Given the description of an element on the screen output the (x, y) to click on. 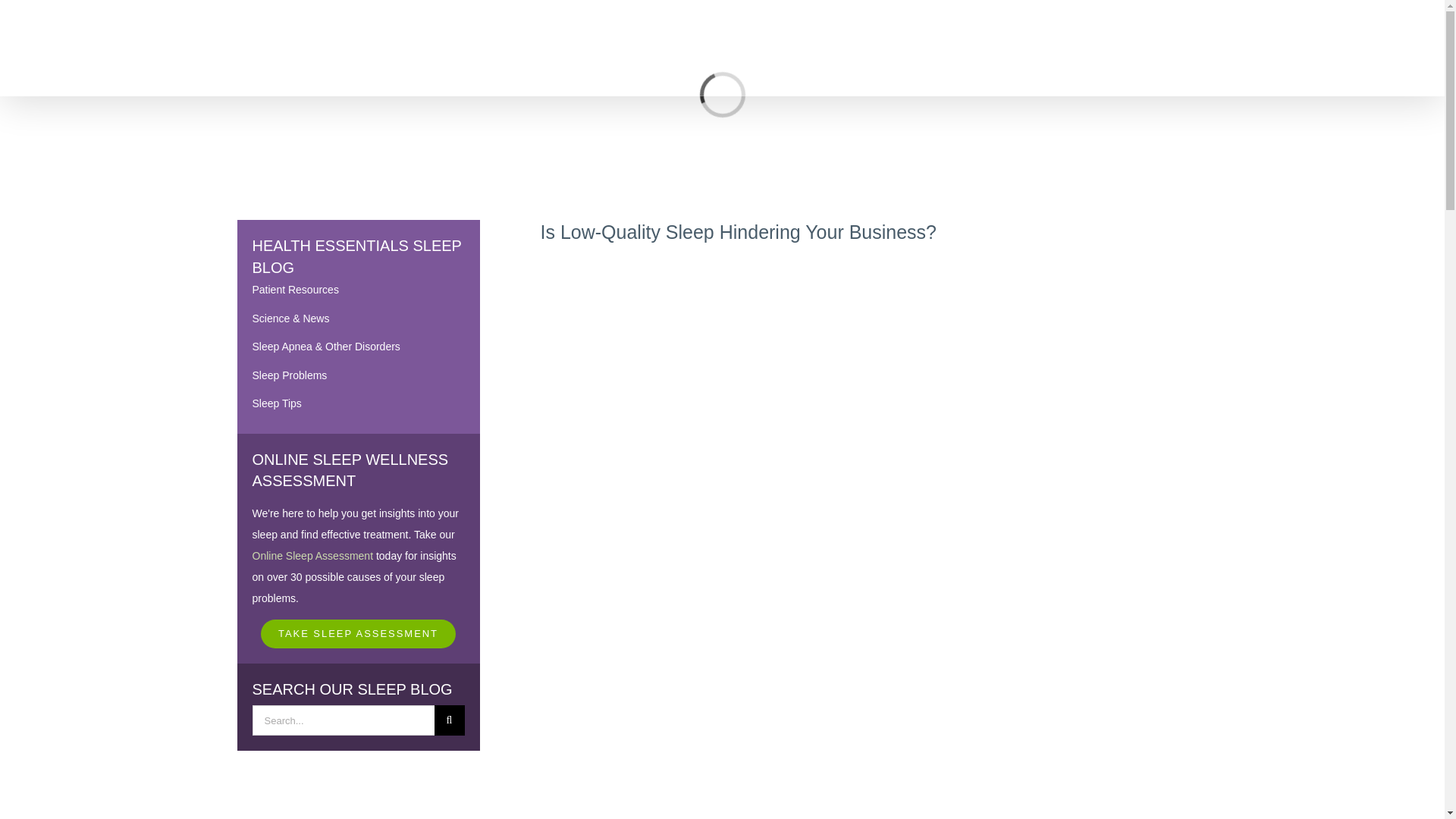
For Patients (858, 64)
For Medical Professionals (716, 64)
844.550.9970 (1046, 16)
For DMEs (577, 64)
